Given the description of an element on the screen output the (x, y) to click on. 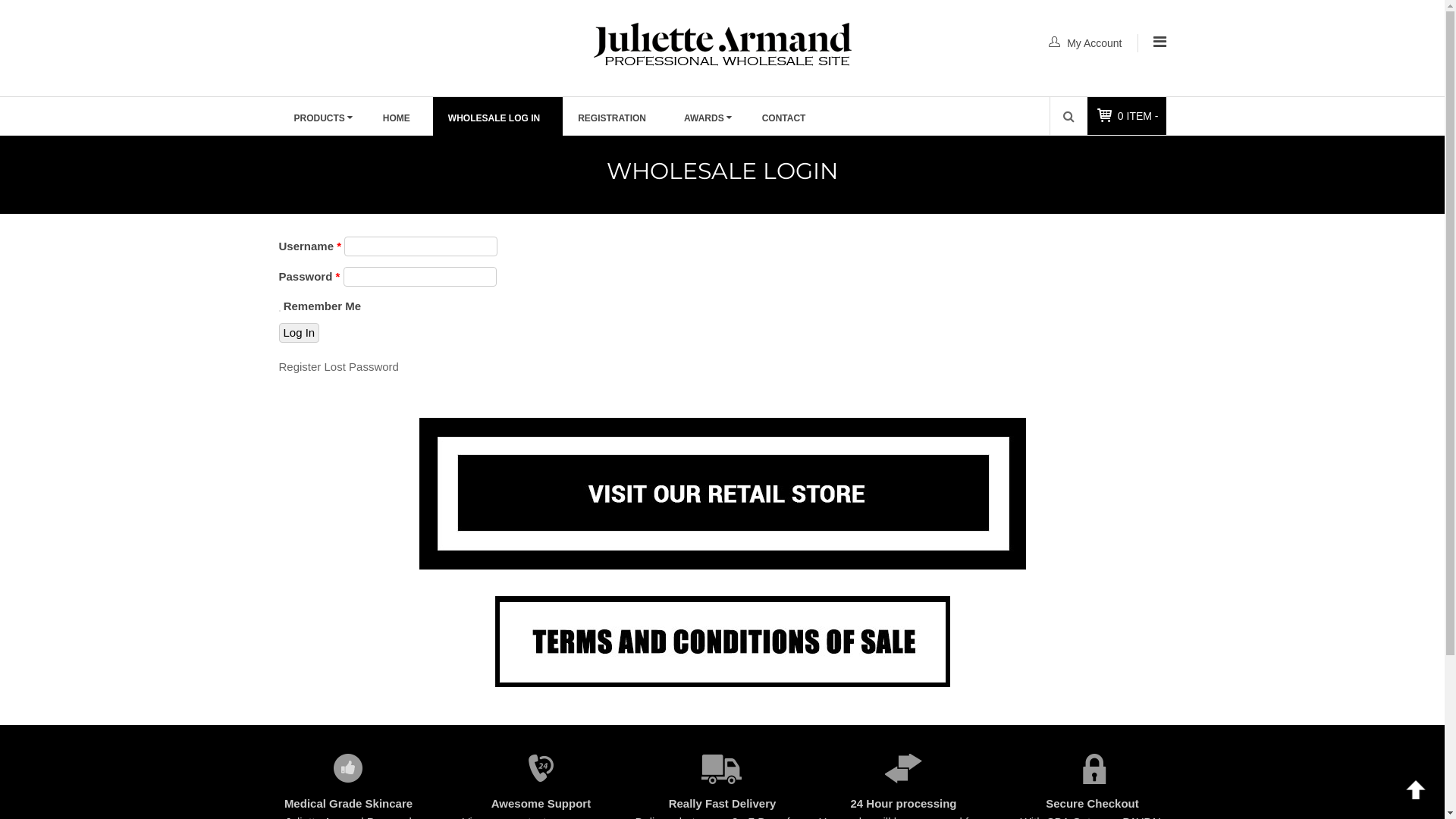
CONTACT Element type: text (787, 117)
24 Hour processing Element type: text (903, 803)
0 ITEM - Element type: text (1137, 115)
Register Element type: text (300, 366)
My Account Element type: text (1093, 43)
Search Element type: hover (1068, 115)
REGISTRATION Element type: text (615, 117)
Really Fast Delivery Element type: text (722, 803)
Awesome Support Element type: text (541, 803)
Log In Element type: text (299, 332)
WHOLESALE LOG IN Element type: text (497, 117)
AWARDS Element type: text (707, 117)
juliette-armand-retail-store Element type: hover (721, 493)
PRODUCTS Element type: text (323, 117)
Secure Checkout Element type: text (1092, 803)
Medical Grade Skincare Element type: text (348, 803)
Lost Password Element type: text (361, 366)
HOME Element type: text (400, 117)
